Given the description of an element on the screen output the (x, y) to click on. 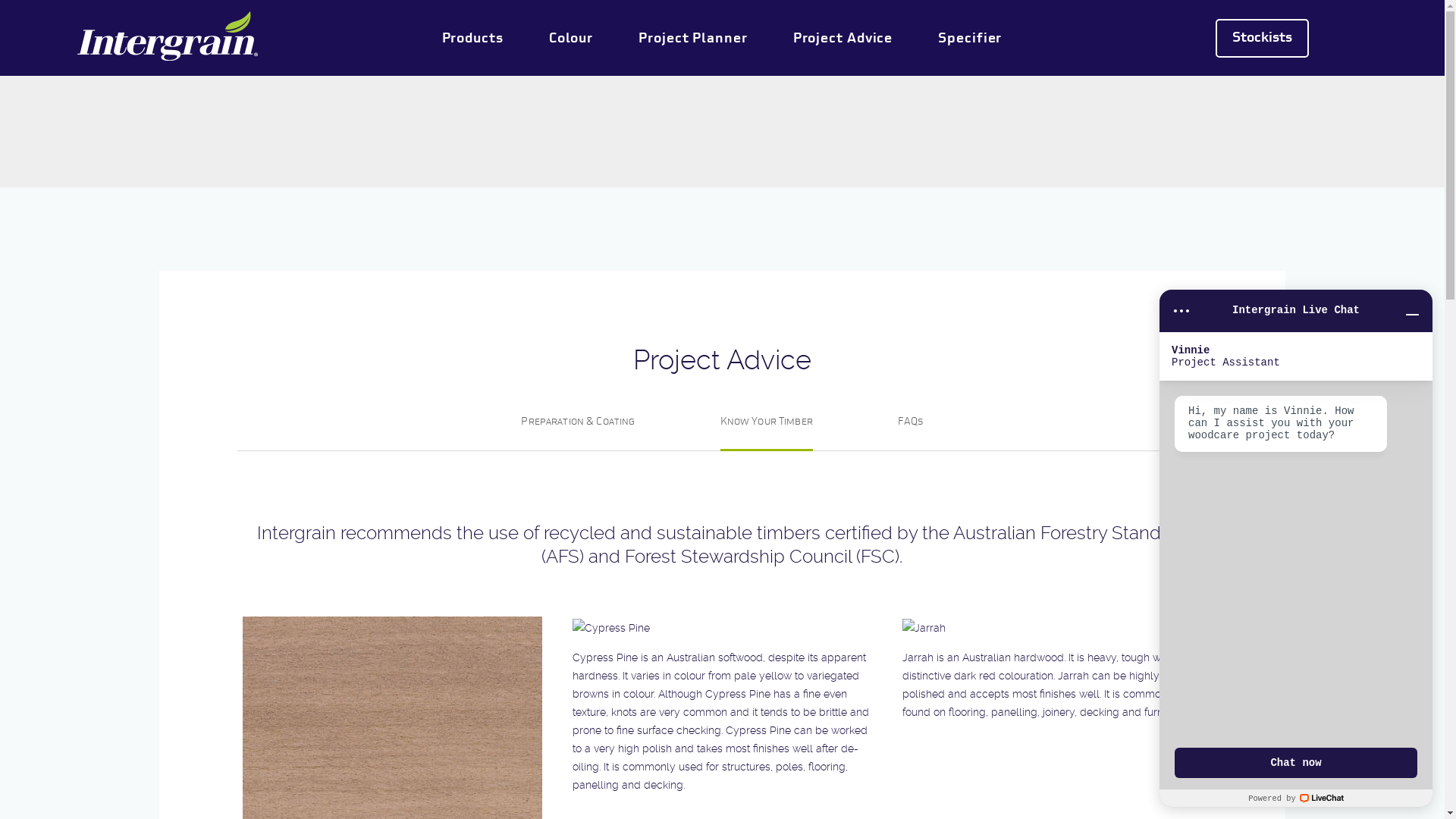
Know Your Timber Element type: text (766, 423)
Colour Element type: text (570, 37)
Specifier Element type: text (969, 37)
Project Advice Element type: text (843, 37)
Products Element type: text (472, 37)
Preparation & Coating Element type: text (577, 421)
FAQs Element type: text (910, 421)
Stockists Element type: text (1261, 37)
Project Planner Element type: text (692, 37)
